Given the description of an element on the screen output the (x, y) to click on. 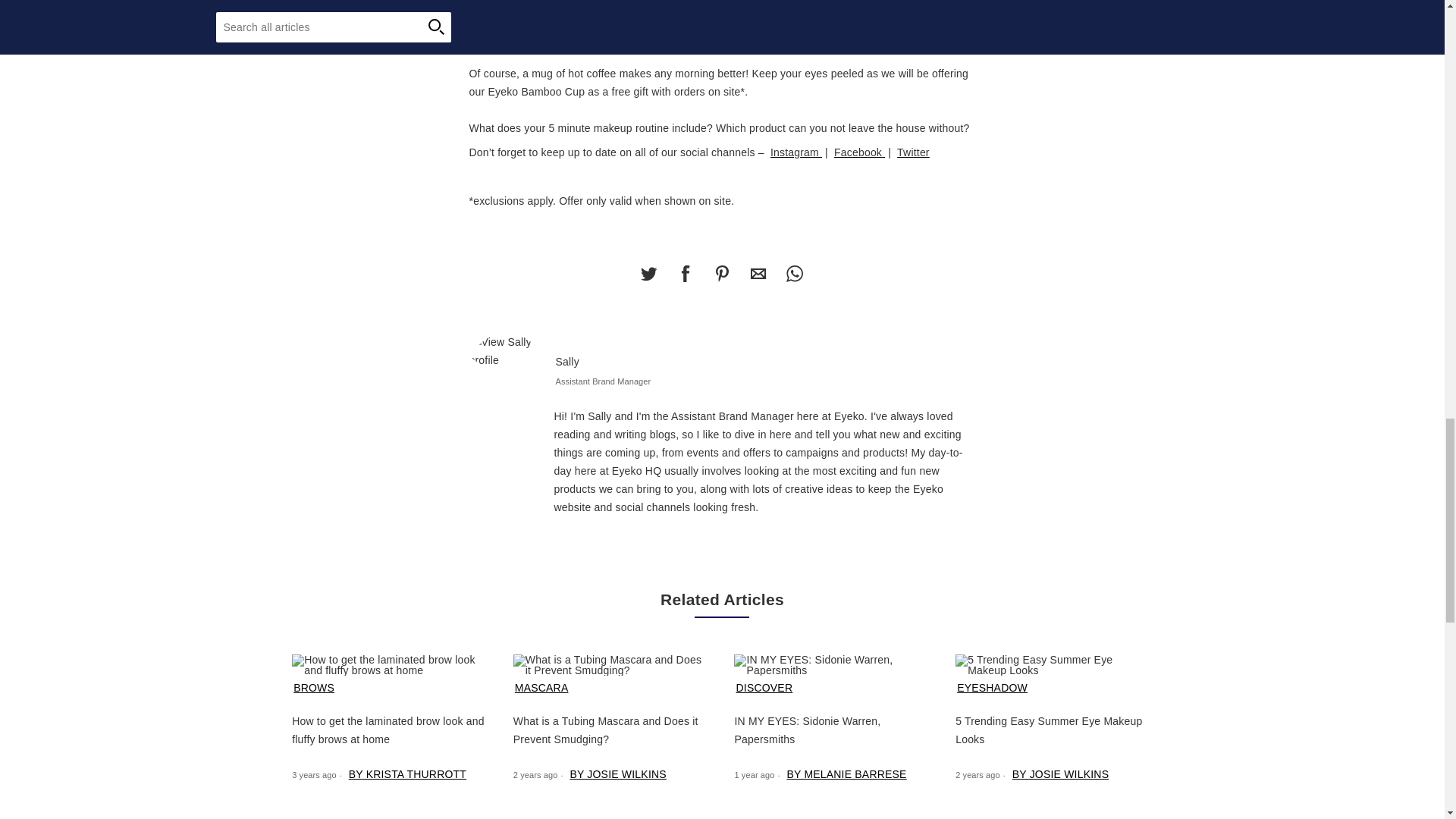
Share this by Email (757, 273)
Share this on WhatsApp (793, 273)
Share this on Twitter (648, 273)
Share this on Facebook (684, 273)
Share this on Pinterest (721, 273)
Sally (505, 350)
